Given the description of an element on the screen output the (x, y) to click on. 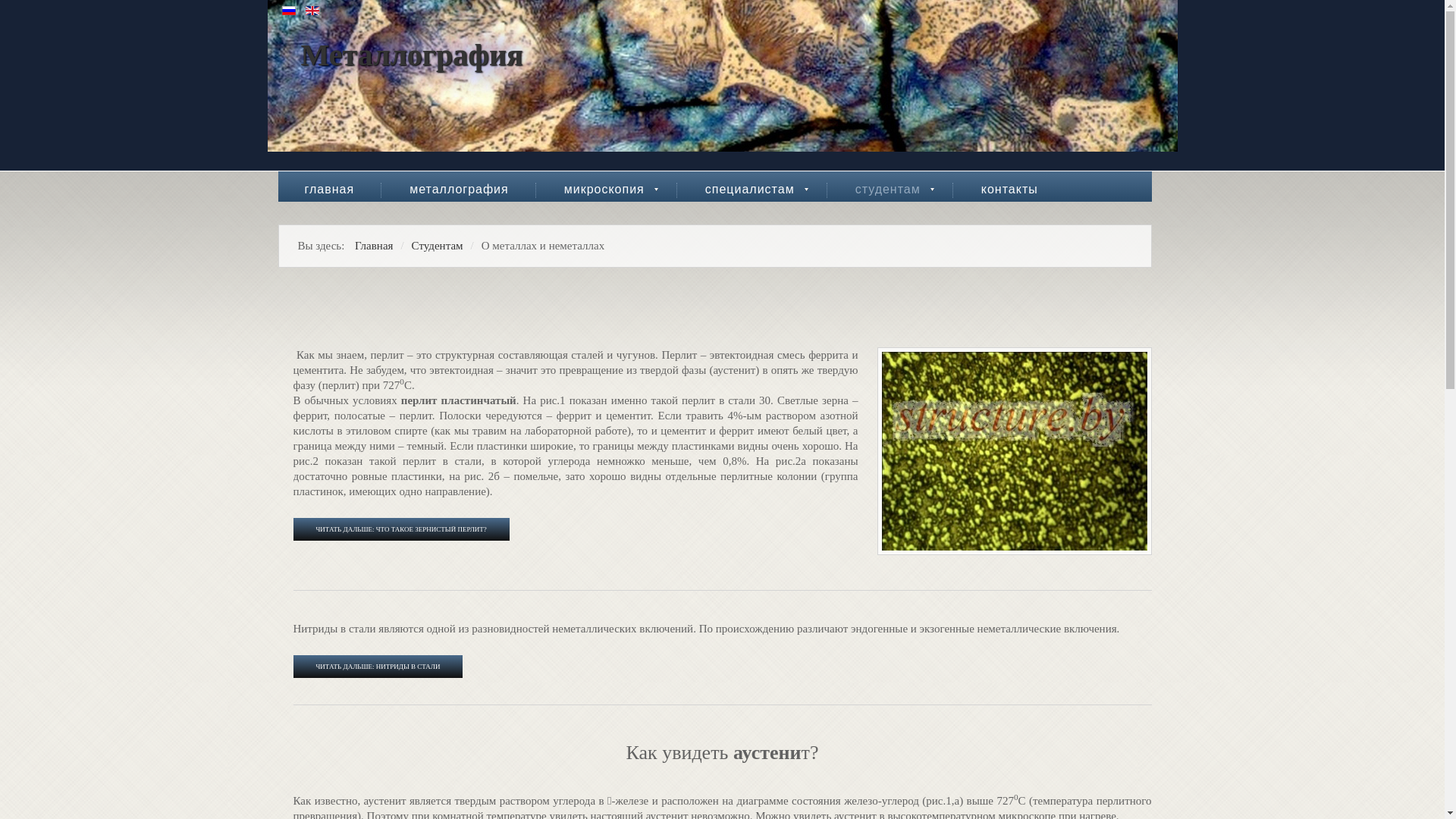
English (UK) Element type: hover (312, 10)
